Given the description of an element on the screen output the (x, y) to click on. 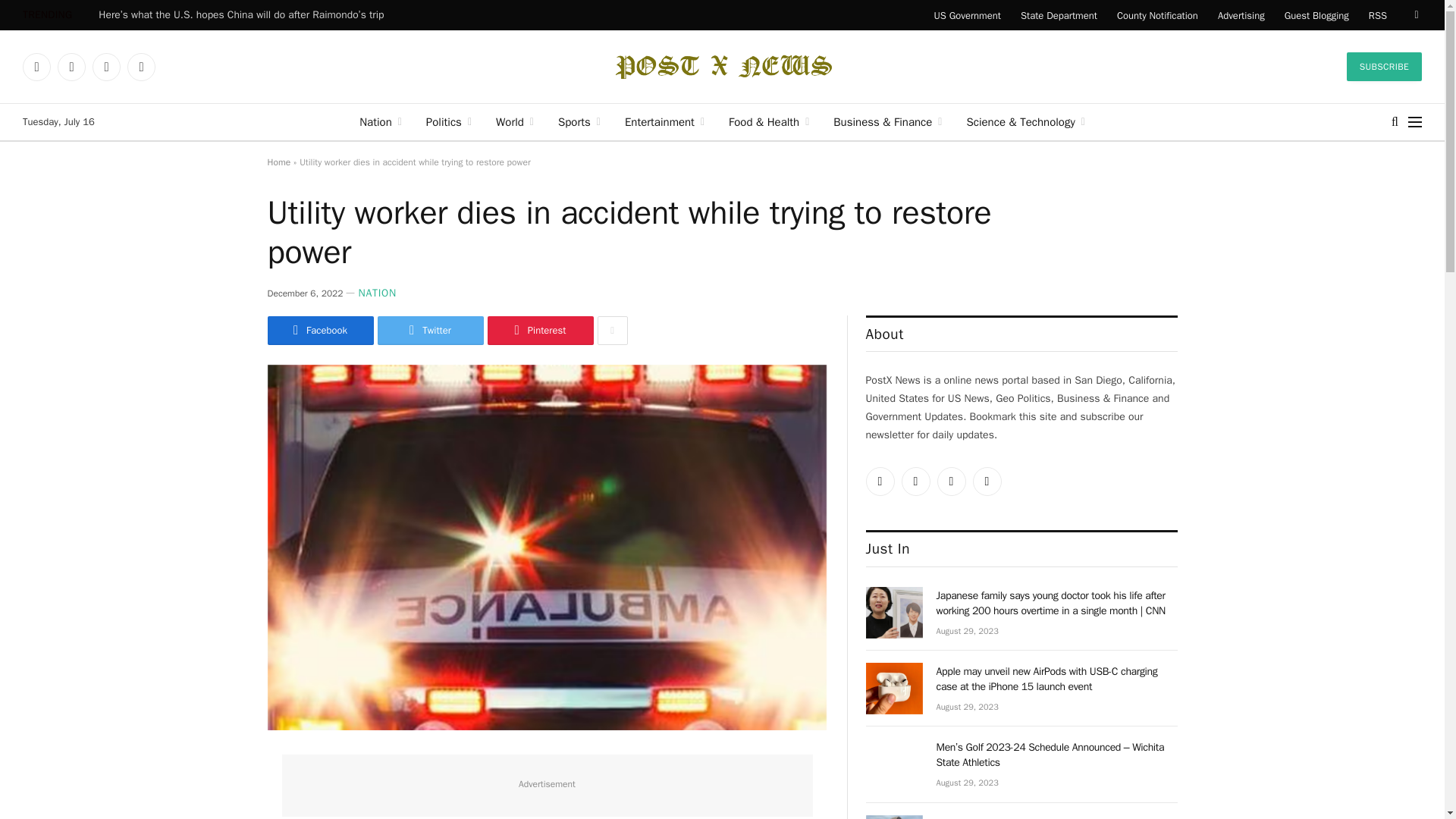
Facebook (71, 67)
RSS (1377, 15)
Nation (380, 122)
US Government (966, 15)
PostX News (721, 66)
Guest Blogging (1316, 15)
SUBSCRIBE (1384, 66)
Twitter (36, 67)
County Notification (1157, 15)
Advertising (1241, 15)
State Department (1058, 15)
Instagram (106, 67)
Switch to Dark Design - easier on eyes. (1414, 14)
RSS (141, 67)
